Given the description of an element on the screen output the (x, y) to click on. 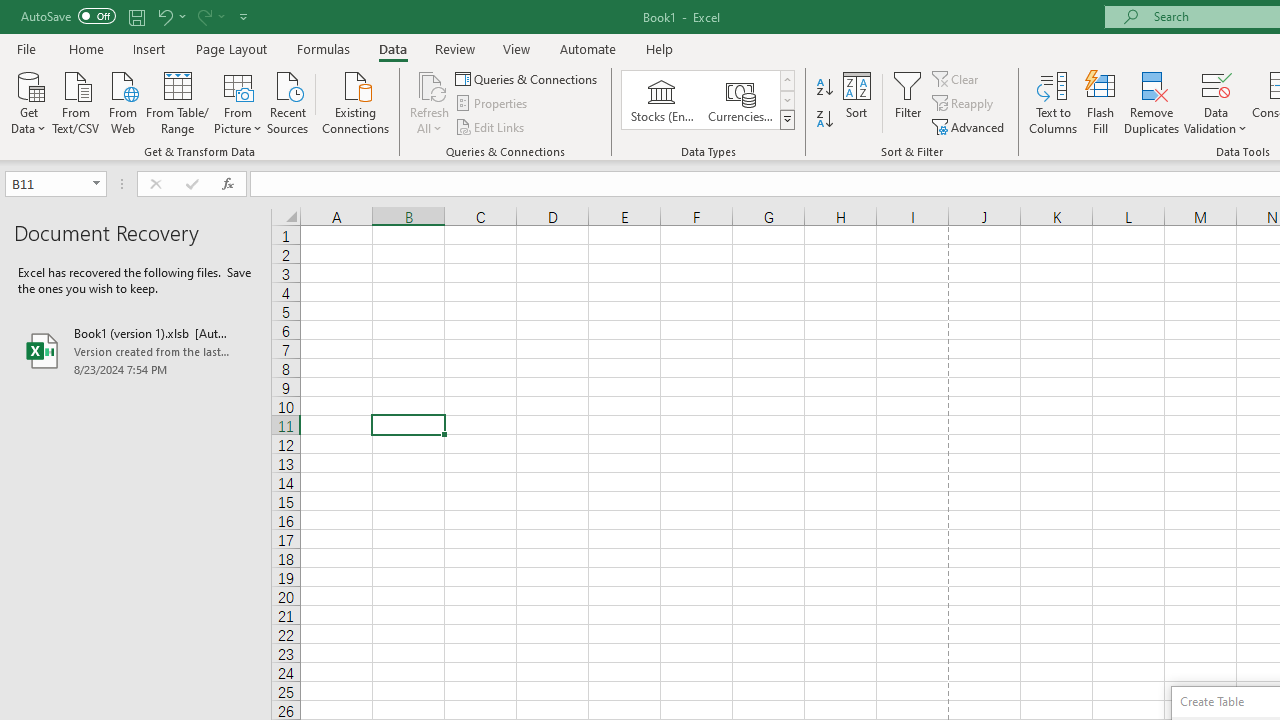
Recent Sources (287, 101)
Text to Columns... (1053, 102)
Edit Links (491, 126)
Row up (786, 79)
Reapply (964, 103)
Existing Connections (355, 101)
From Web (122, 101)
